Given the description of an element on the screen output the (x, y) to click on. 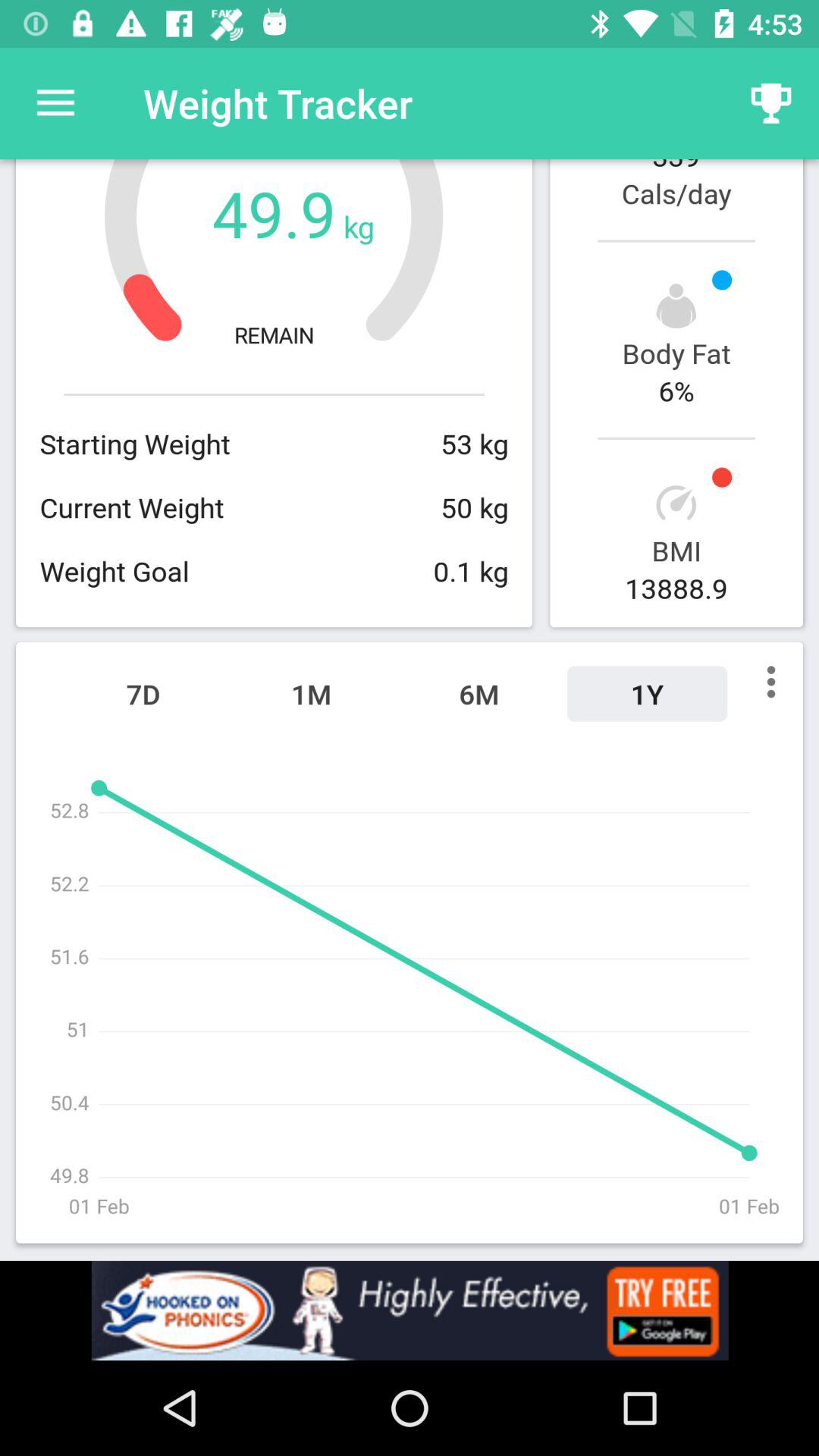
know about the advertisement (409, 1310)
